Given the description of an element on the screen output the (x, y) to click on. 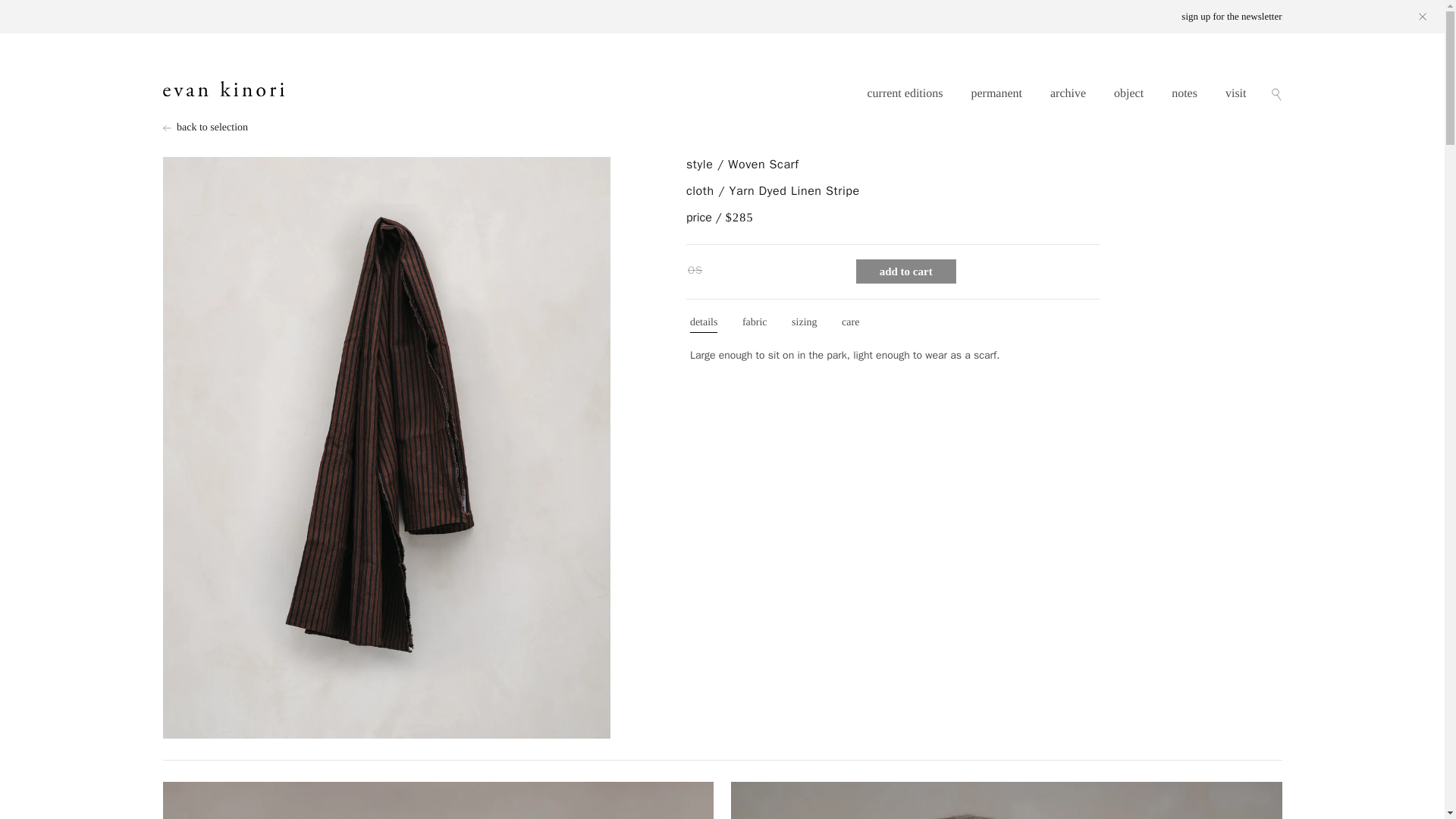
permanent (996, 93)
current editions (904, 93)
skip to product information (207, 168)
skip to content (45, 11)
notes (1184, 93)
add to cart (906, 271)
visit (1236, 93)
Open media 1 in modal (1006, 800)
Open media 1 in modal (437, 800)
object (1128, 93)
back to selection (721, 128)
archive (1068, 93)
